Given the description of an element on the screen output the (x, y) to click on. 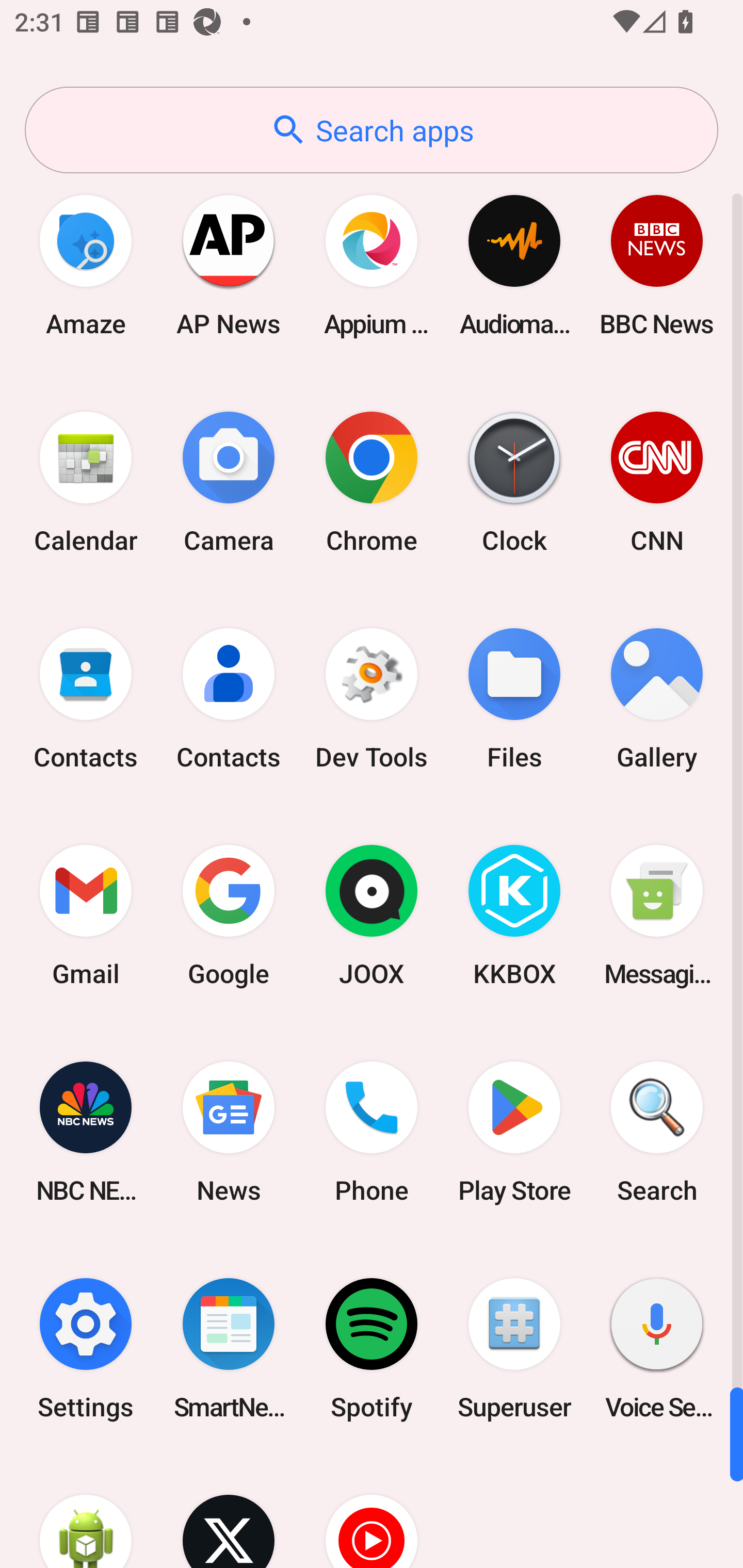
  Search apps (371, 130)
Amaze (85, 264)
AP News (228, 264)
Appium Settings (371, 264)
Audio­mack (514, 264)
BBC News (656, 264)
Calendar (85, 482)
Camera (228, 482)
Chrome (371, 482)
Clock (514, 482)
CNN (656, 482)
Contacts (85, 699)
Contacts (228, 699)
Dev Tools (371, 699)
Files (514, 699)
Gallery (656, 699)
Gmail (85, 915)
Google (228, 915)
JOOX (371, 915)
KKBOX (514, 915)
Messaging (656, 915)
NBC NEWS (85, 1131)
News (228, 1131)
Phone (371, 1131)
Play Store (514, 1131)
Search (656, 1131)
Settings (85, 1348)
SmartNews (228, 1348)
Spotify (371, 1348)
Superuser (514, 1348)
Voice Search (656, 1348)
WebView Browser Tester (85, 1512)
X (228, 1512)
YT Music (371, 1512)
